Given the description of an element on the screen output the (x, y) to click on. 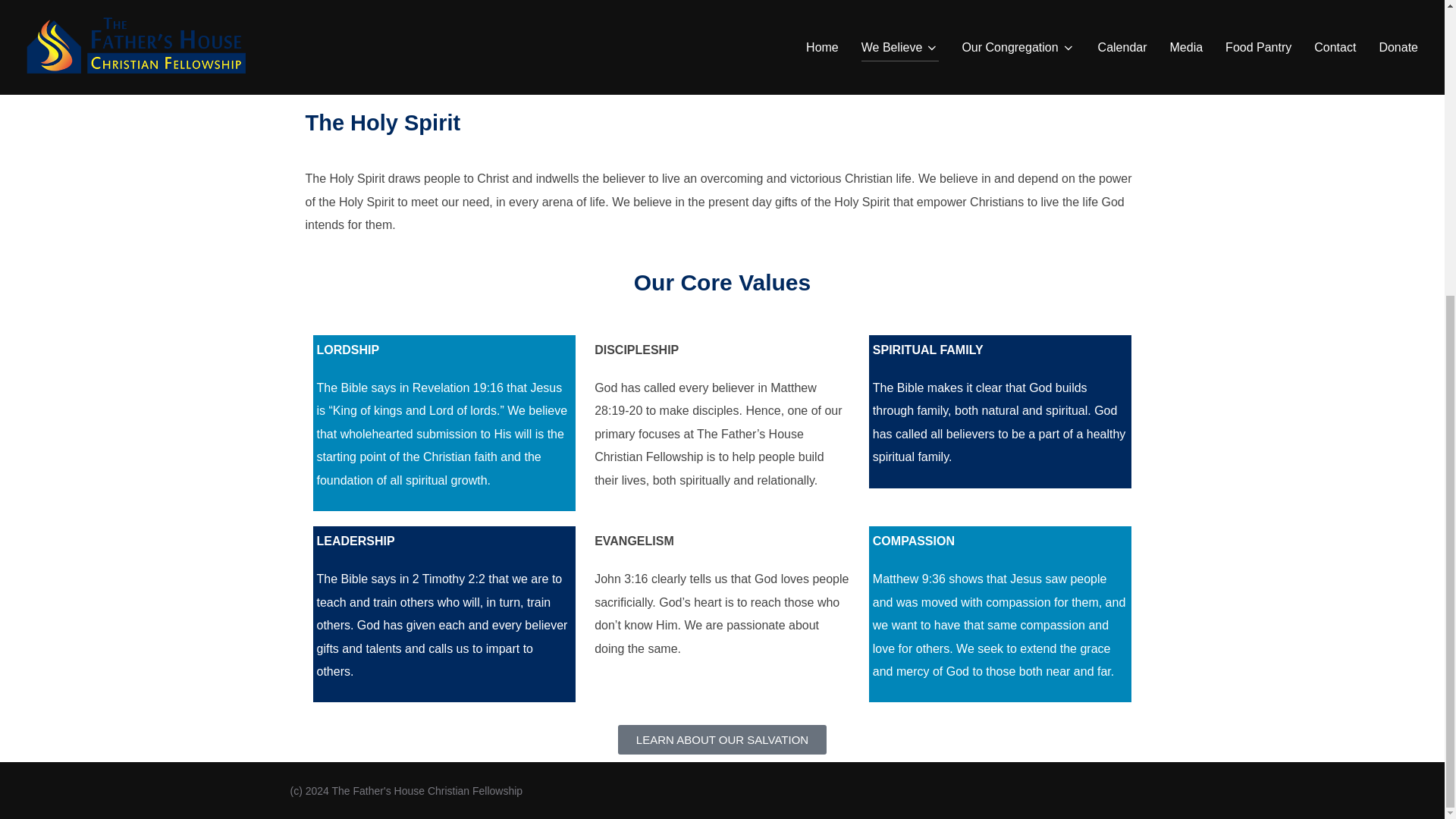
LEARN ABOUT OUR SALVATION (722, 739)
